Given the description of an element on the screen output the (x, y) to click on. 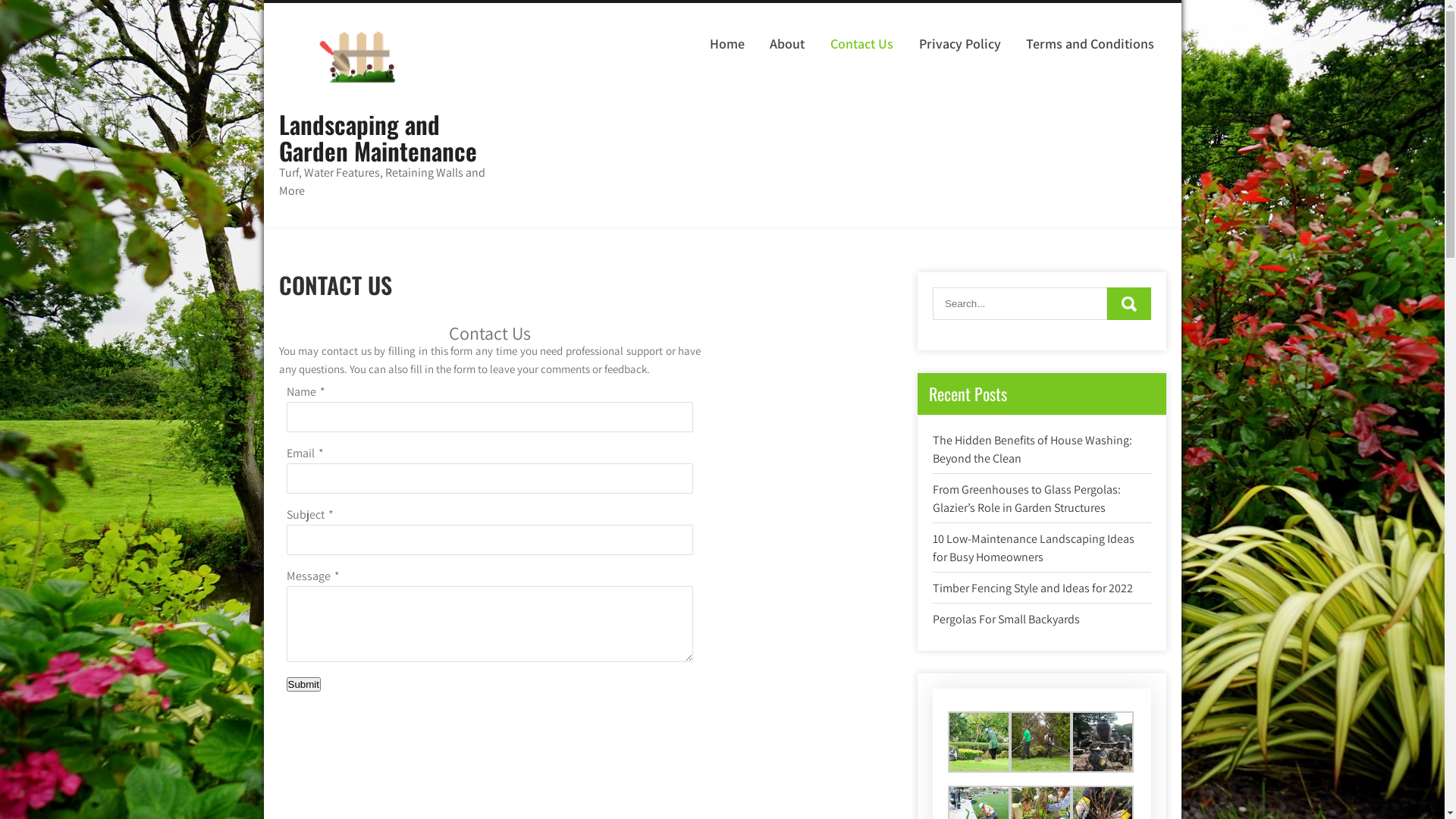
Home Element type: text (727, 43)
Privacy Policy Element type: text (959, 43)
Submit Element type: text (303, 684)
The Hidden Benefits of House Washing: Beyond the Clean Element type: text (1032, 449)
Landscaping and Garden Maintenance Element type: text (377, 137)
10 Low-Maintenance Landscaping Ideas for Busy Homeowners Element type: text (1033, 547)
Terms and Conditions Element type: text (1090, 43)
About Element type: text (787, 43)
Contact Us Element type: text (862, 43)
Timber Fencing Style and Ideas for 2022 Element type: text (1032, 588)
Search Element type: text (1129, 303)
Pergolas For Small Backyards Element type: text (1005, 619)
